Given the description of an element on the screen output the (x, y) to click on. 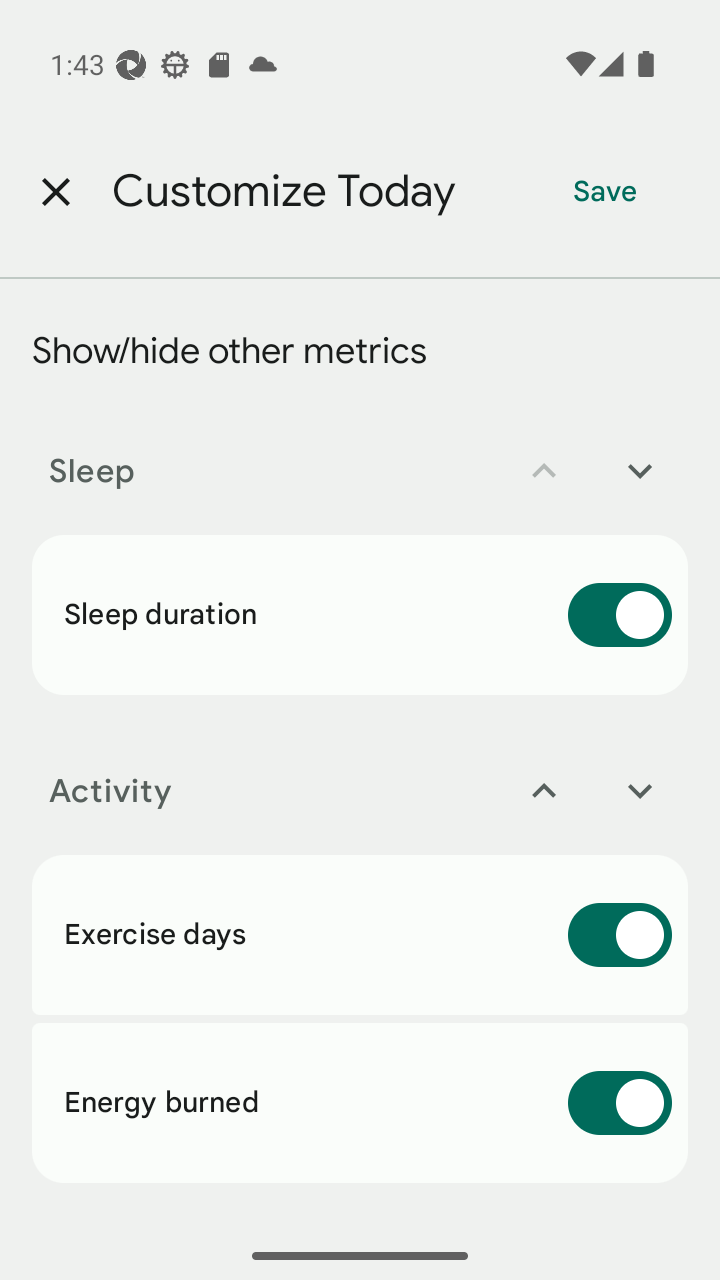
Close (55, 191)
Save (605, 191)
Move Sleep up (543, 470)
Move Sleep down (639, 470)
Sleep duration (359, 615)
Move Activity up (543, 790)
Move Activity down (639, 790)
Exercise days (359, 935)
Energy burned (359, 1102)
